Given the description of an element on the screen output the (x, y) to click on. 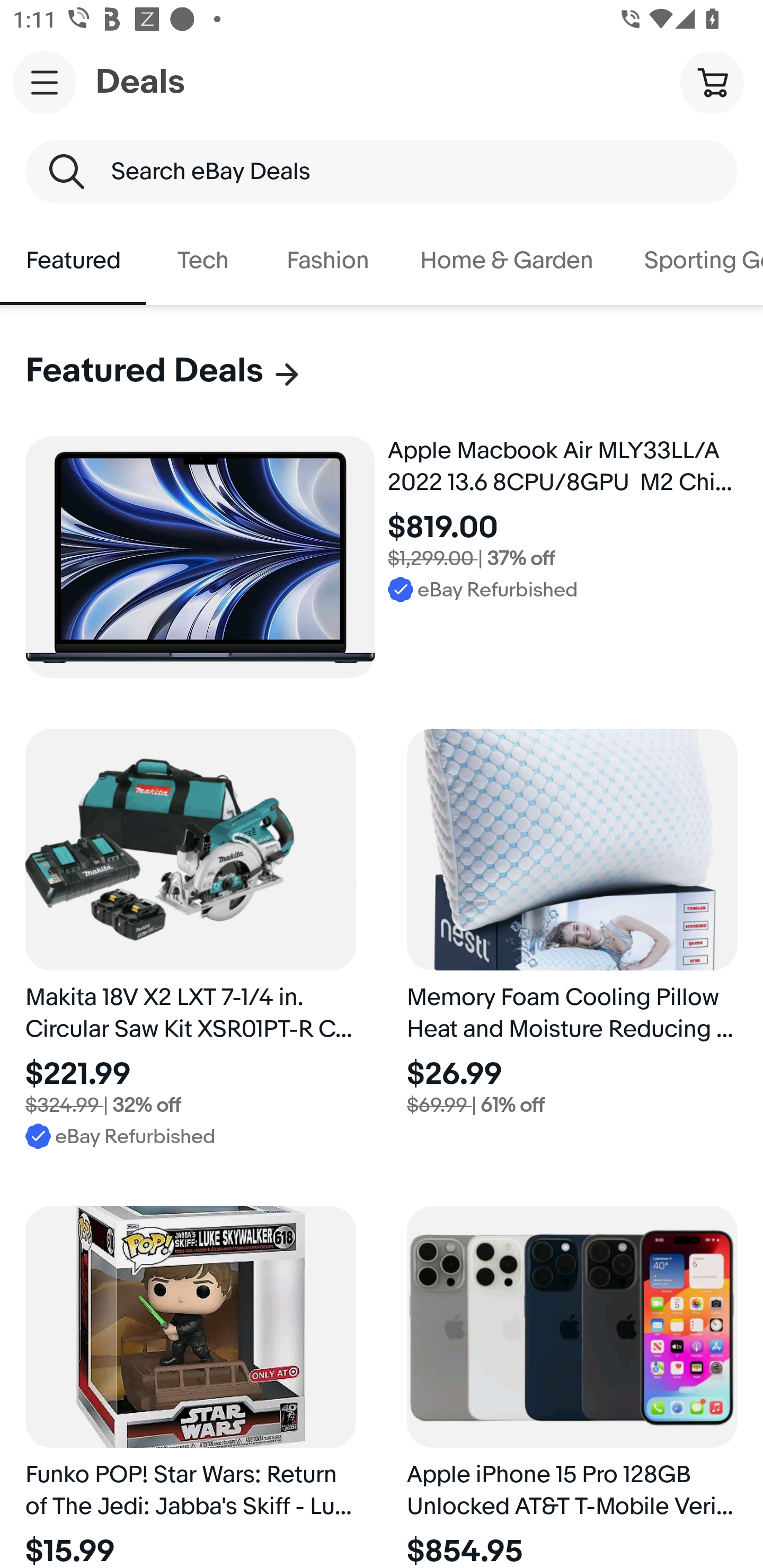
Main navigation, open (44, 82)
Cart button shopping cart (711, 81)
Search eBay Deals Search Keyword Search eBay Deals (381, 171)
Tech. Button. 2 of 7. Tech (203, 260)
Fashion. Button. 3 of 7. Fashion (327, 260)
Home & Garden. Button. 4 of 7. Home & Garden (506, 260)
Featured Deals   Featured Deals,7 items (163, 370)
